Given the description of an element on the screen output the (x, y) to click on. 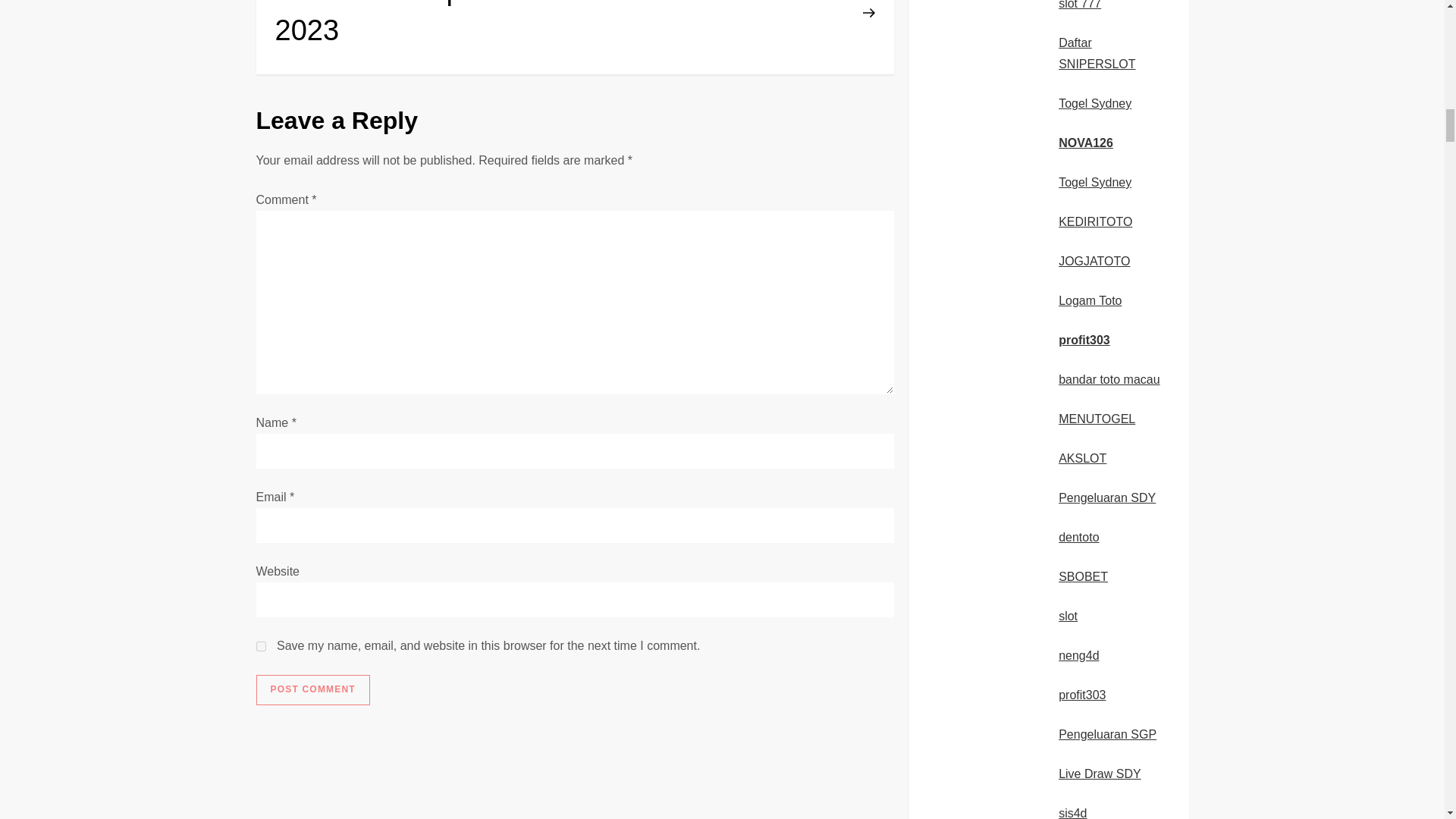
Post Comment (312, 689)
yes (261, 646)
Post Comment (312, 689)
